Given the description of an element on the screen output the (x, y) to click on. 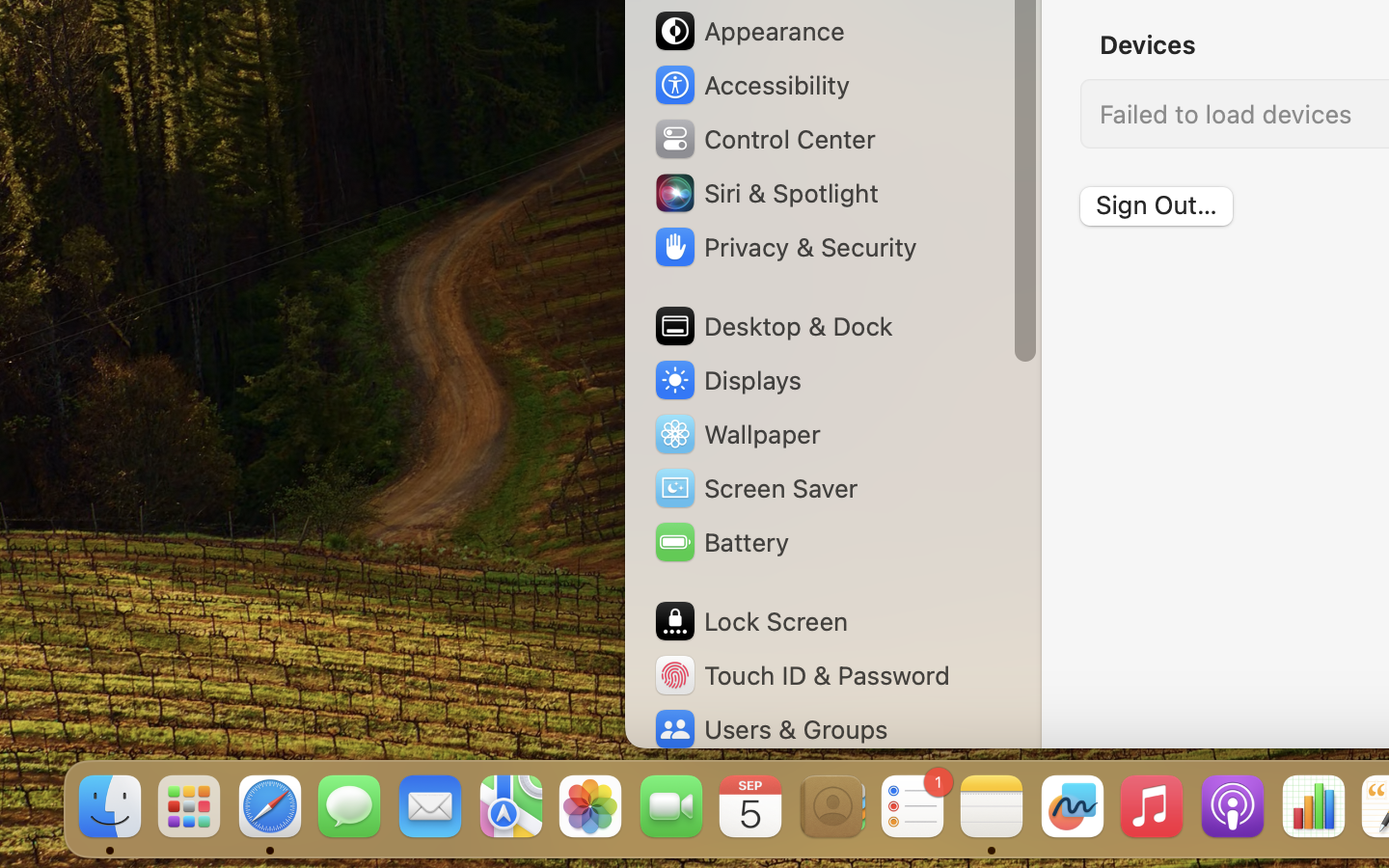
Displays Element type: AXStaticText (727, 379)
Touch ID & Password Element type: AXStaticText (801, 674)
Battery Element type: AXStaticText (720, 541)
Failed to load devices Element type: AXStaticText (1225, 113)
